Given the description of an element on the screen output the (x, y) to click on. 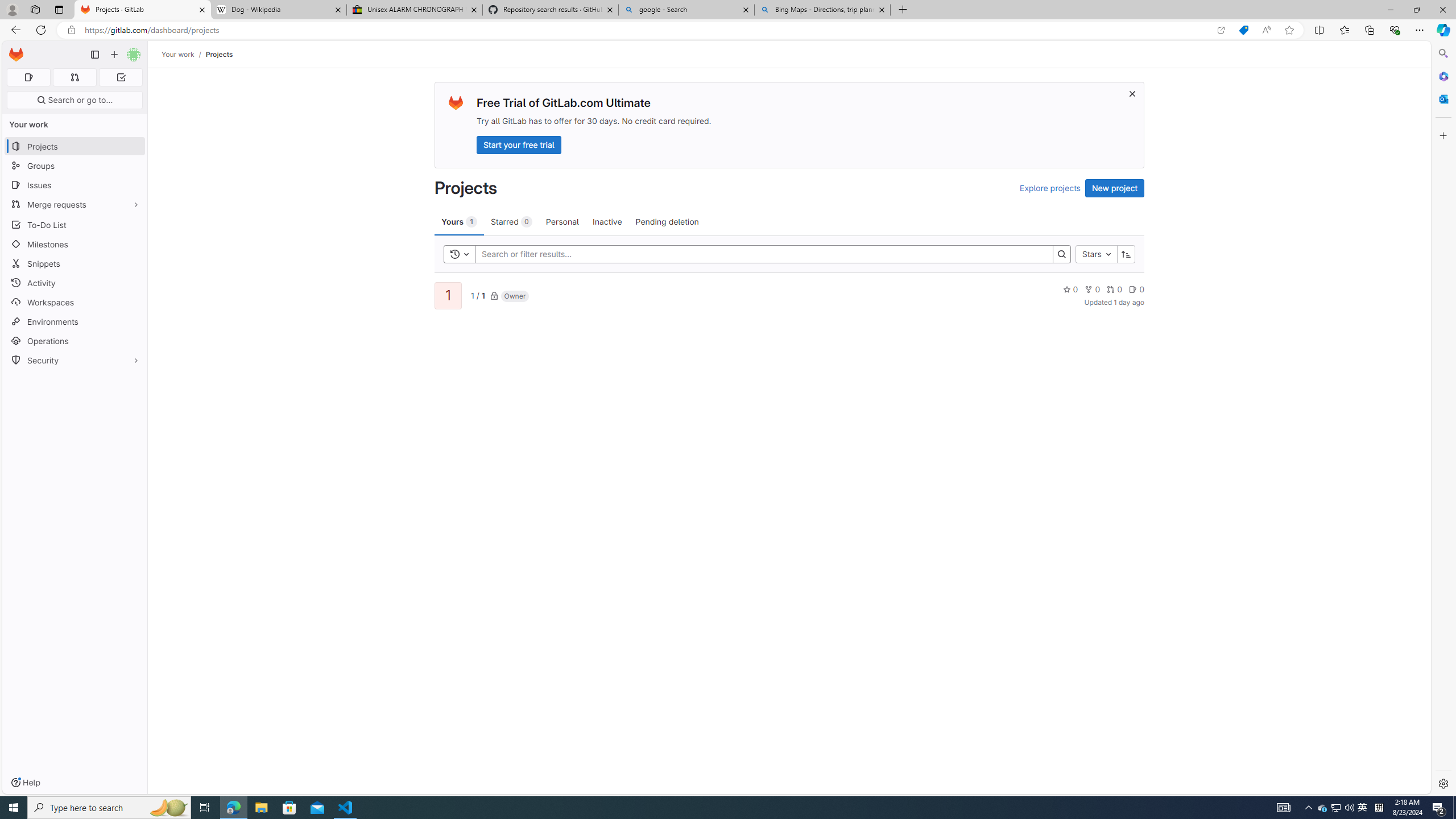
Open in app (1220, 29)
Groups (74, 165)
Activity (74, 282)
Projects (218, 53)
Primary navigation sidebar (94, 54)
Merge requests (74, 203)
Milestones (74, 244)
0 (1136, 288)
